Given the description of an element on the screen output the (x, y) to click on. 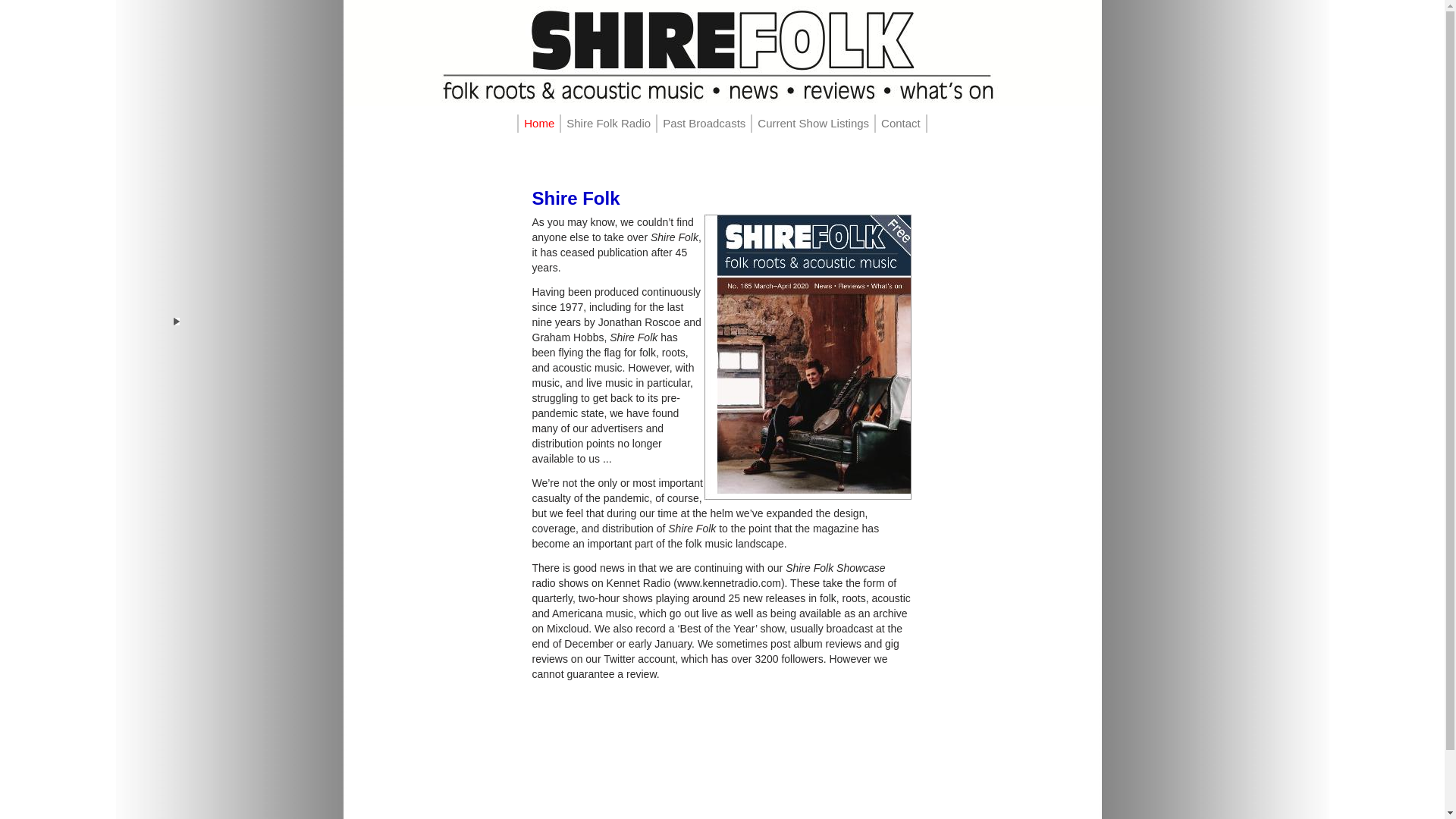
Contact (901, 123)
Home (538, 123)
Shire Folk Radio (608, 123)
Past Broadcasts (704, 123)
Current Show Listings (813, 123)
